Given the description of an element on the screen output the (x, y) to click on. 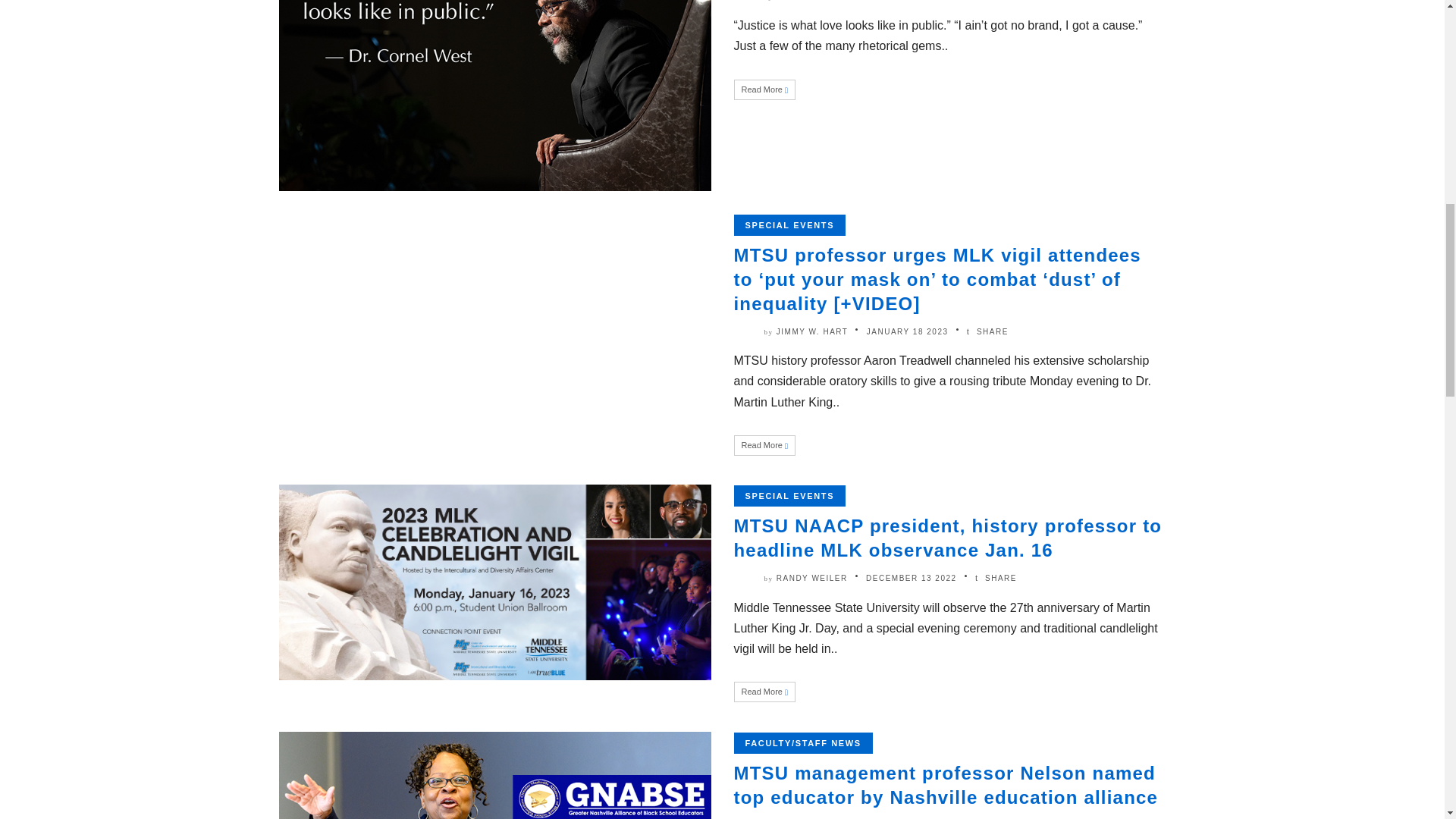
Posts by Jimmy W. Hart (812, 0)
Posts by Jimmy W. Hart (812, 331)
January 18, 2023 4:39 (907, 331)
December 13, 2022 1:39 (911, 578)
Posts by Randy Weiler (811, 578)
March 3, 2023 4:52 (899, 0)
